Given the description of an element on the screen output the (x, y) to click on. 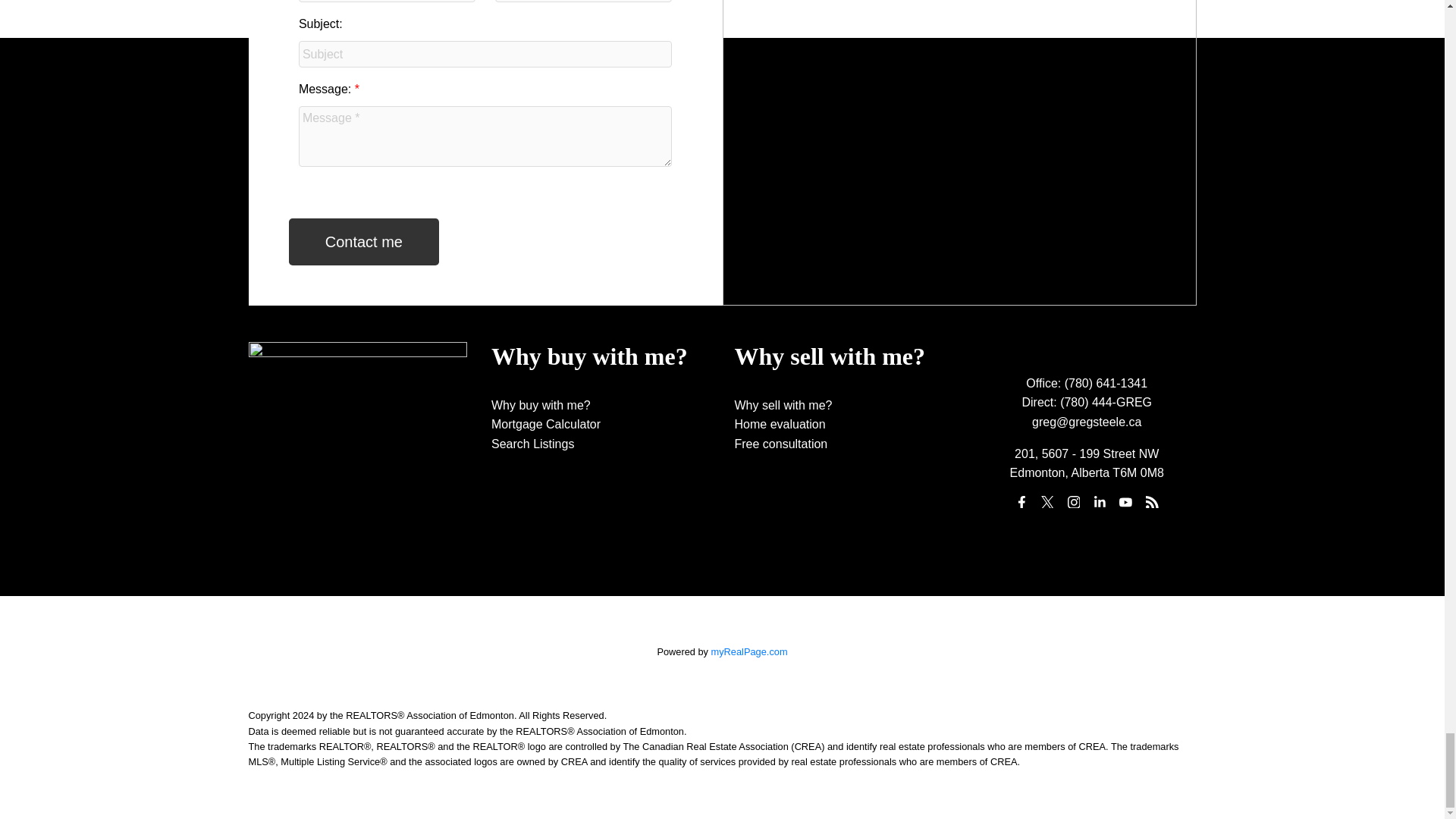
Facebook (1021, 501)
Blog (1151, 501)
X (1047, 501)
Linkedin (1099, 501)
Instagram (1073, 501)
YouTube (1126, 501)
